Given the description of an element on the screen output the (x, y) to click on. 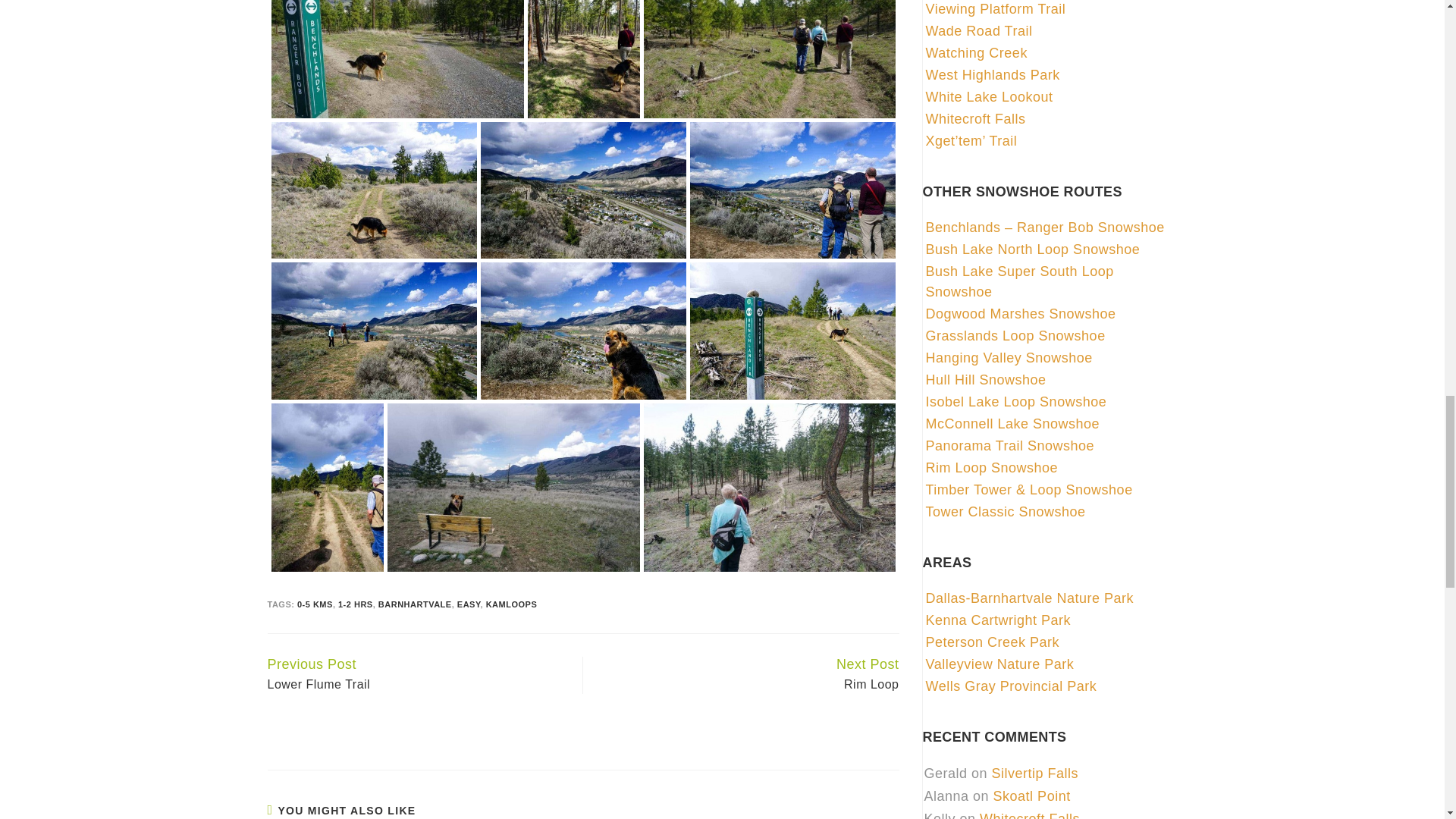
DSC00533-2 (769, 58)
DSC00530-2 (583, 58)
DSC00526-2 (397, 58)
